Given the description of an element on the screen output the (x, y) to click on. 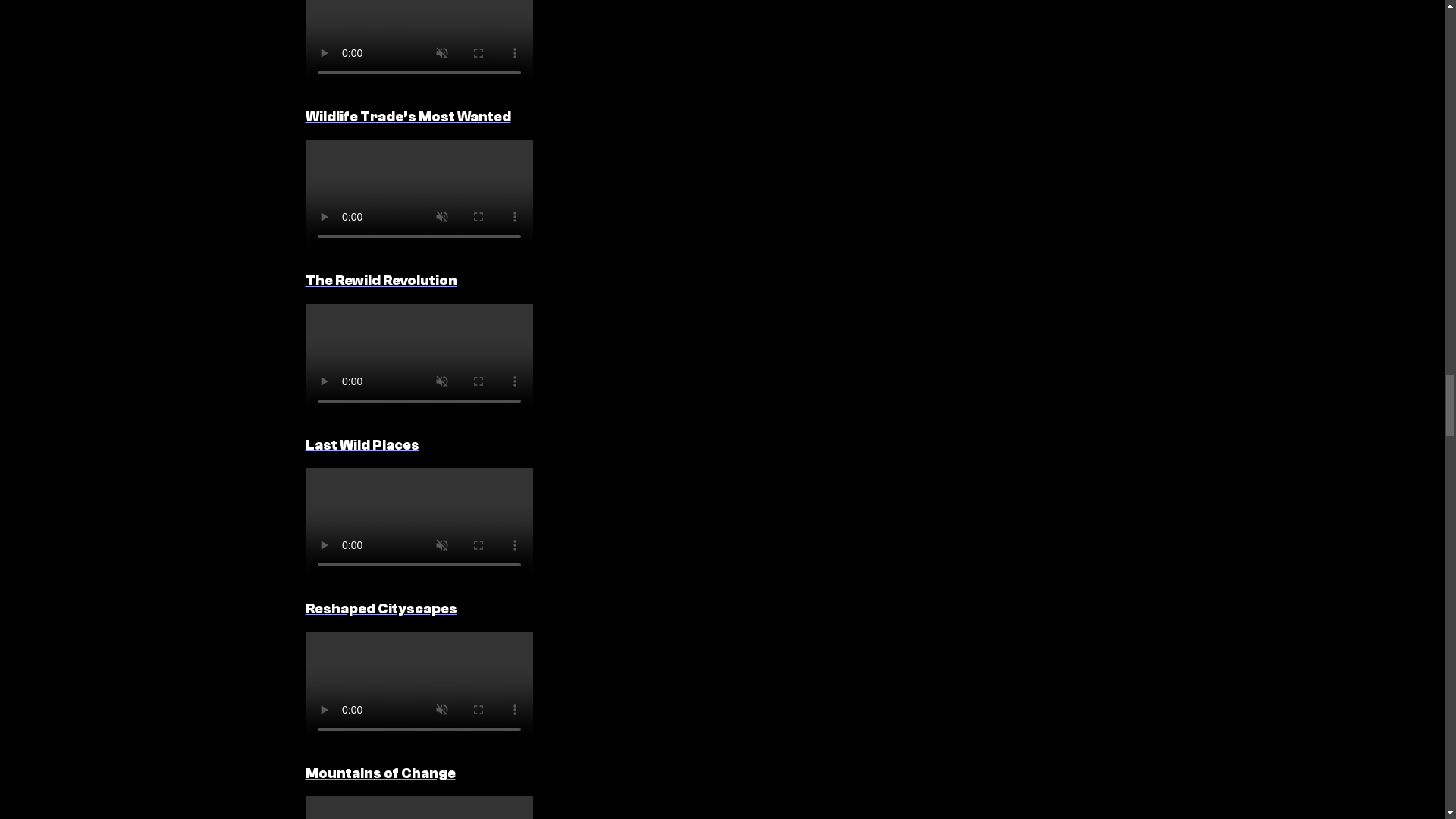
Last Wild Places (721, 378)
The Rewild Revolution (721, 214)
Mountains of Change (721, 707)
Grasslands or Grazed Lands? (721, 807)
Reshaped Cityscapes (721, 542)
